Given the description of an element on the screen output the (x, y) to click on. 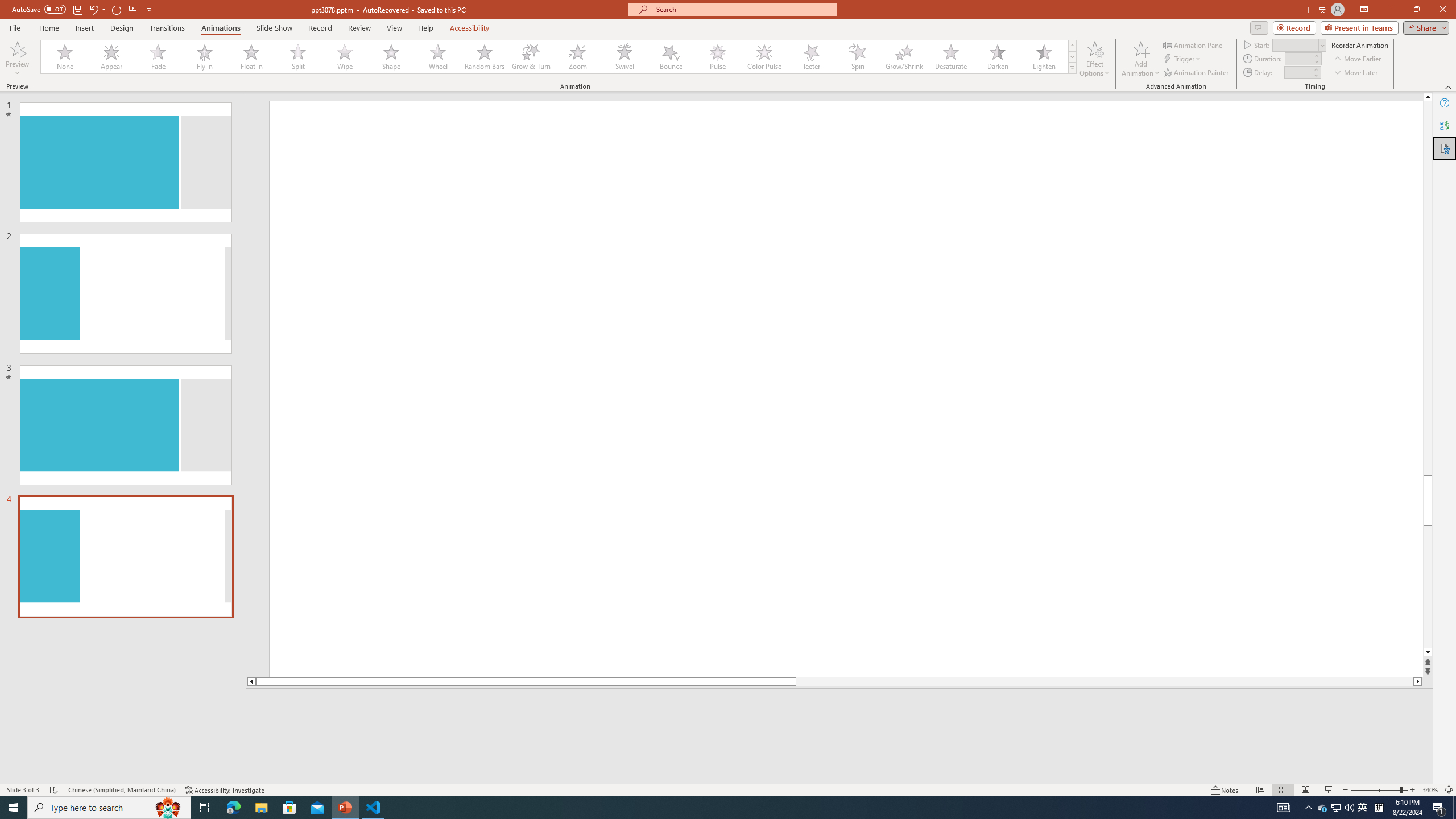
Float In (251, 56)
